Given the description of an element on the screen output the (x, y) to click on. 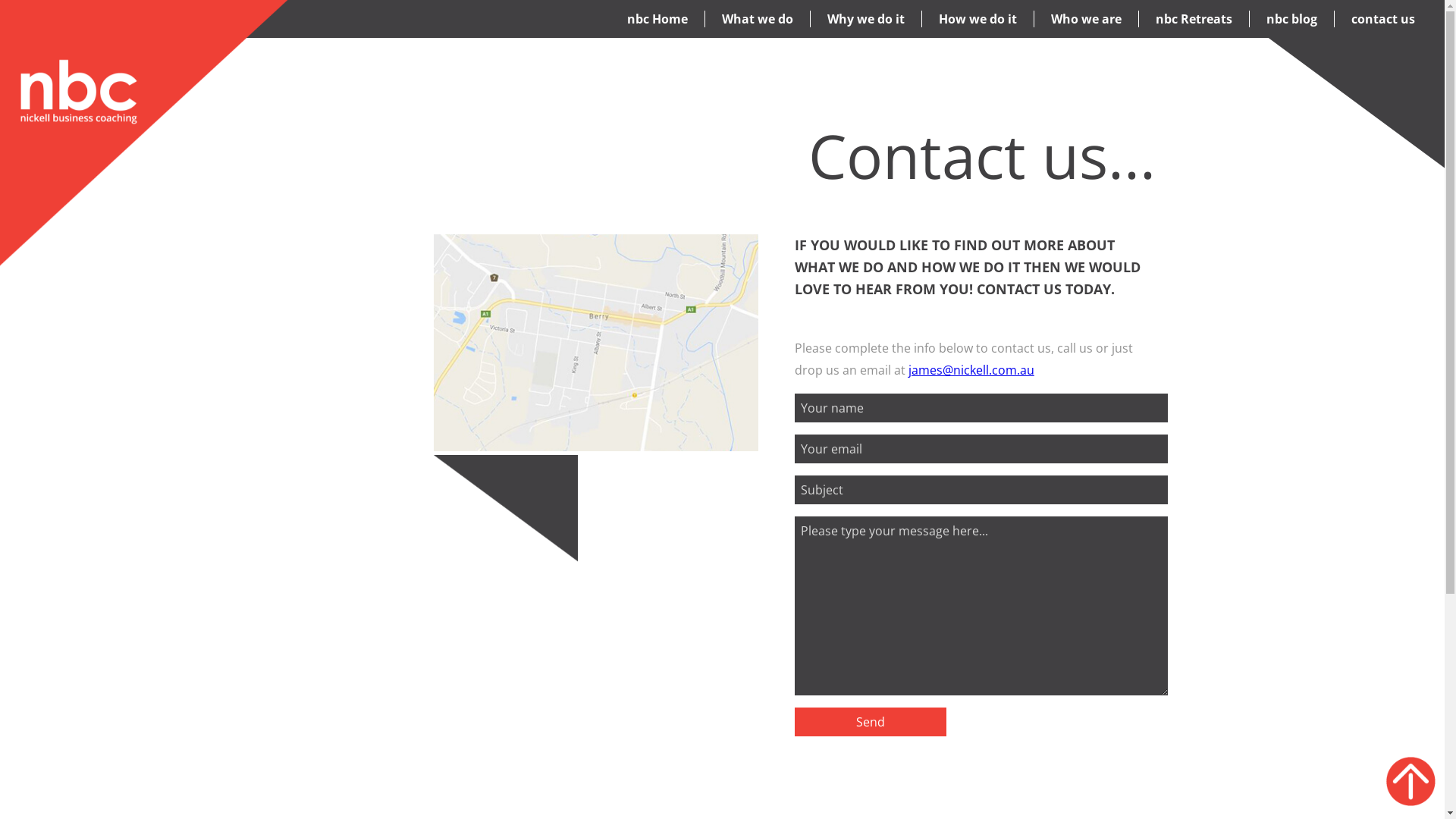
nbc Home Element type: text (657, 18)
nbc blog Element type: text (1291, 18)
Why we do it Element type: text (865, 18)
How we do it Element type: text (977, 18)
james@nickell.com.au Element type: text (971, 369)
Who we are Element type: text (1086, 18)
What we do Element type: text (757, 18)
contact us Element type: text (1382, 18)
Send Element type: text (870, 721)
nbc Retreats Element type: text (1193, 18)
